Given the description of an element on the screen output the (x, y) to click on. 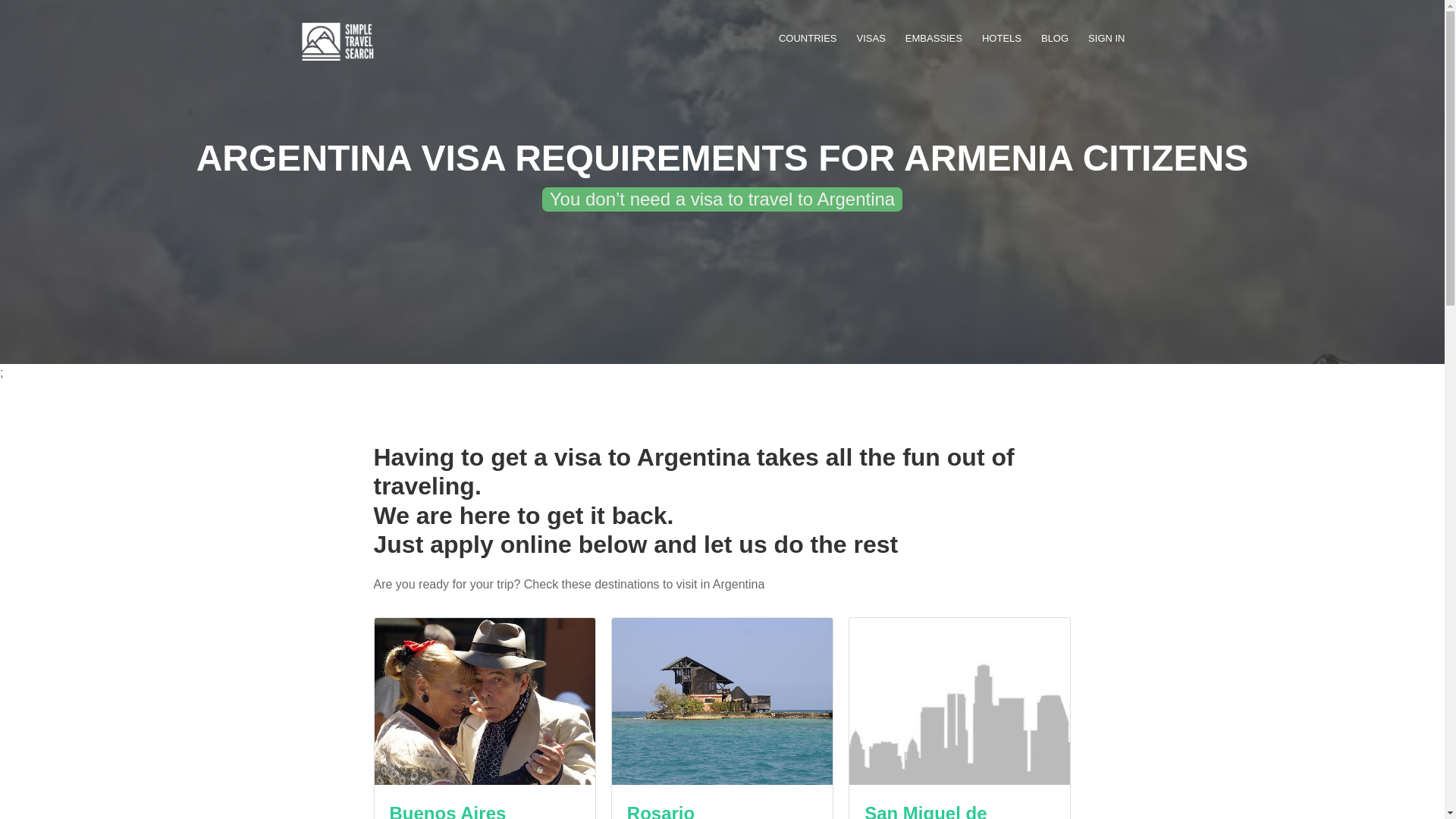
BLOG (1054, 42)
Buenos Aires, Argentina (484, 701)
COUNTRIES (808, 42)
VISAS (870, 42)
Rosario (660, 811)
HOTELS (1001, 42)
Buenos Aires (448, 811)
EMBASSIES (933, 42)
Rosario, Argentina (721, 701)
SIGN IN (1106, 42)
